Given the description of an element on the screen output the (x, y) to click on. 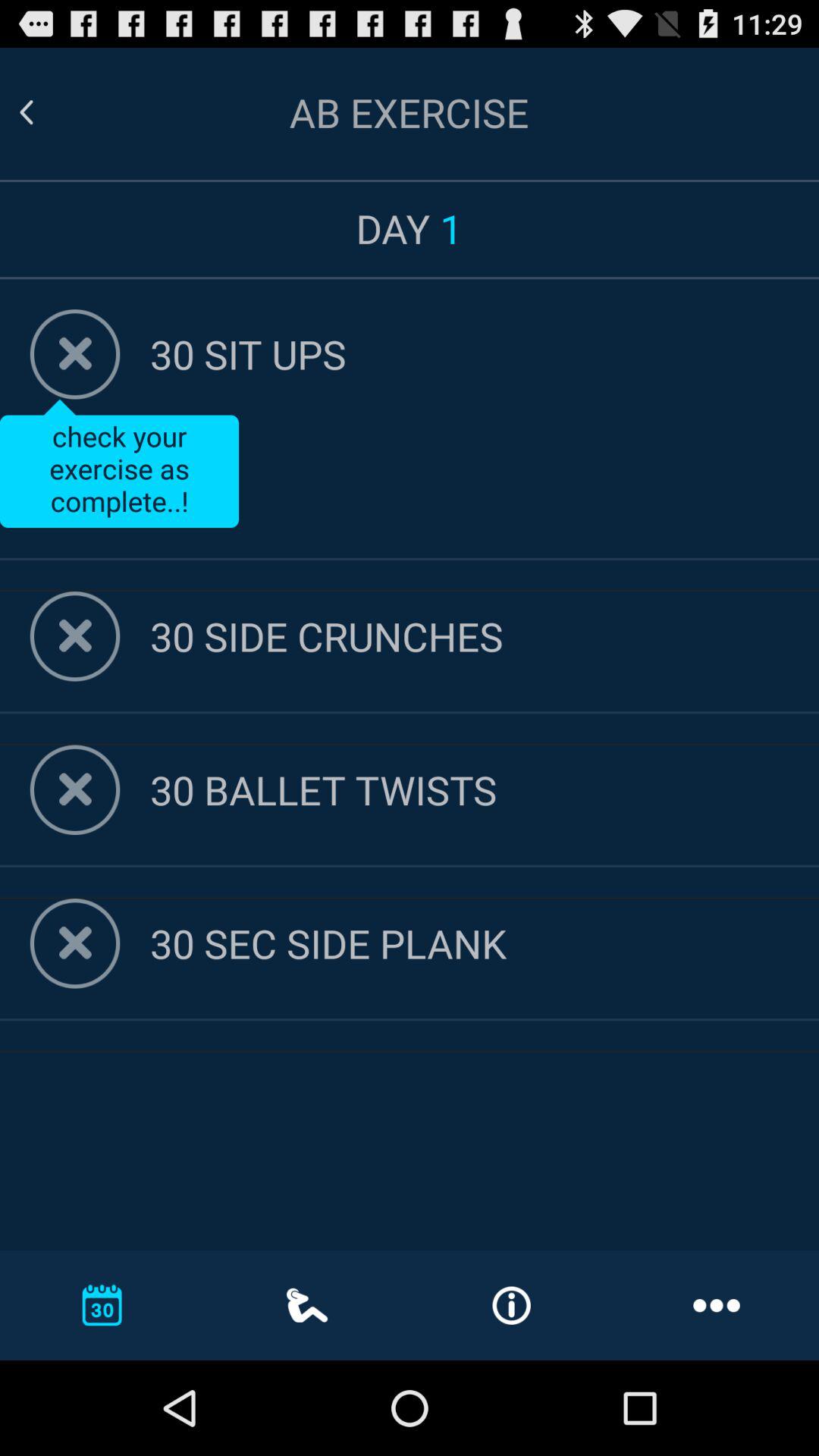
select the icon above the check your exercise icon (484, 353)
